Given the description of an element on the screen output the (x, y) to click on. 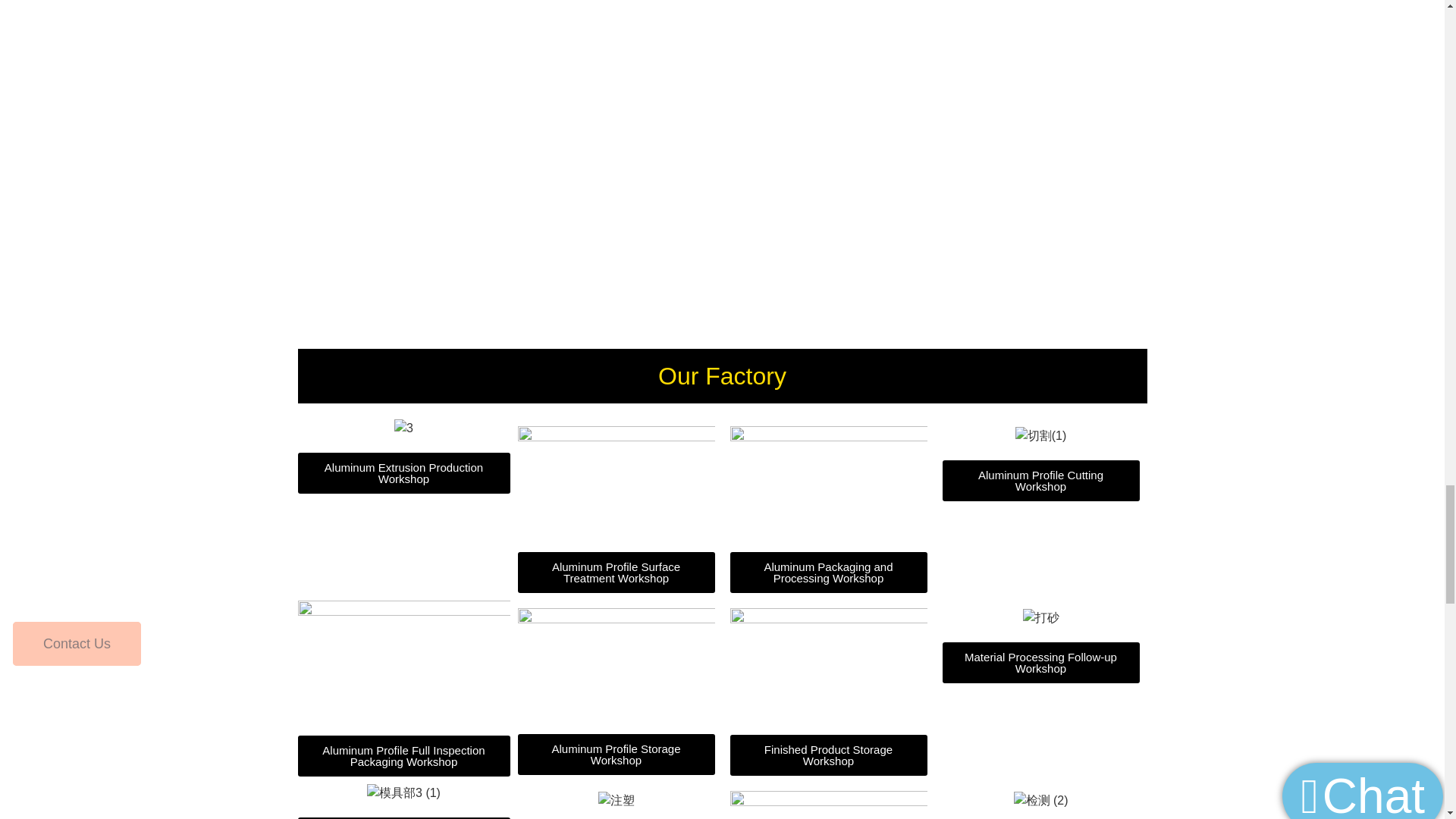
3 (403, 428)
